Given the description of an element on the screen output the (x, y) to click on. 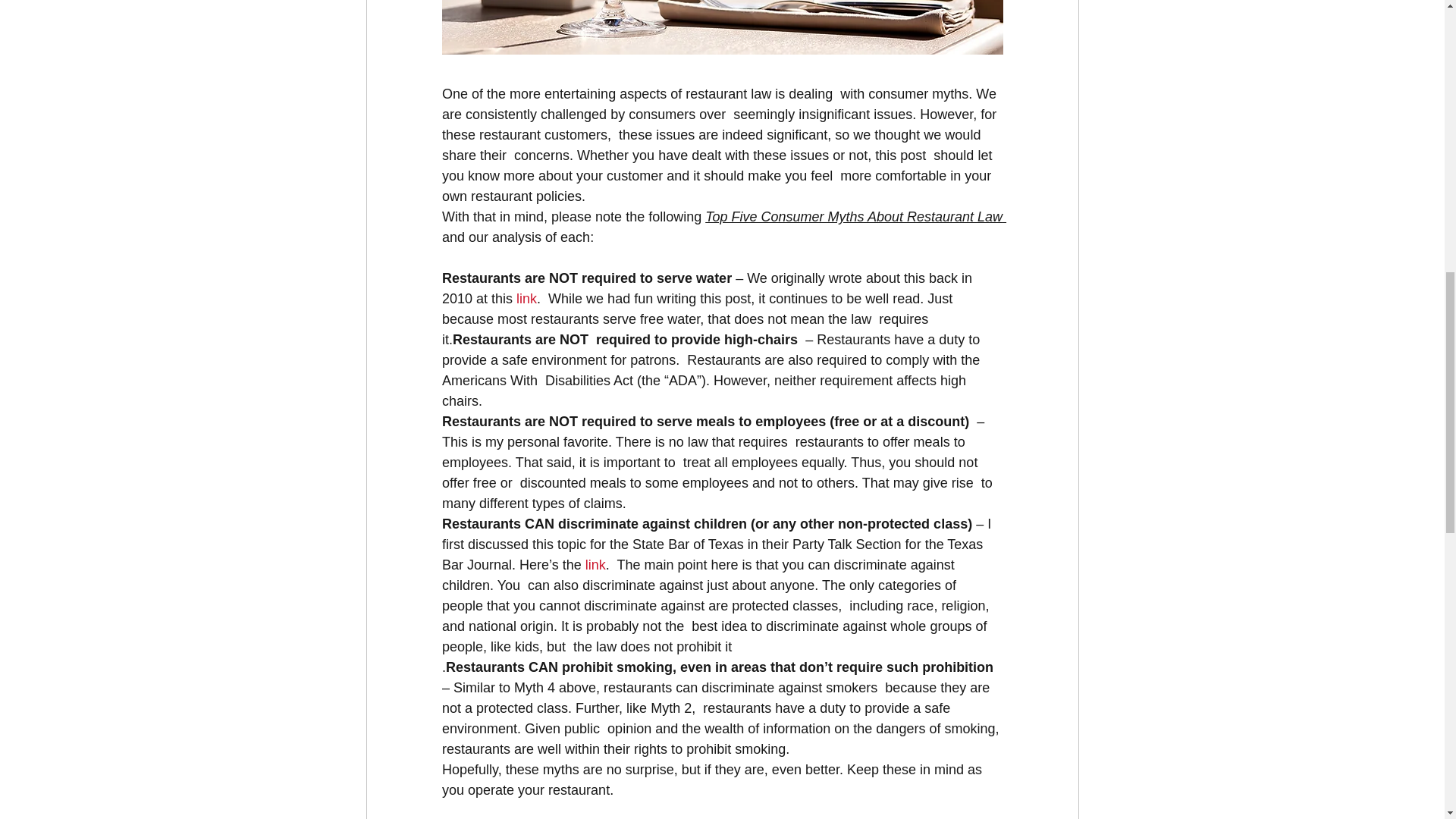
link (526, 298)
link (595, 564)
